Given the description of an element on the screen output the (x, y) to click on. 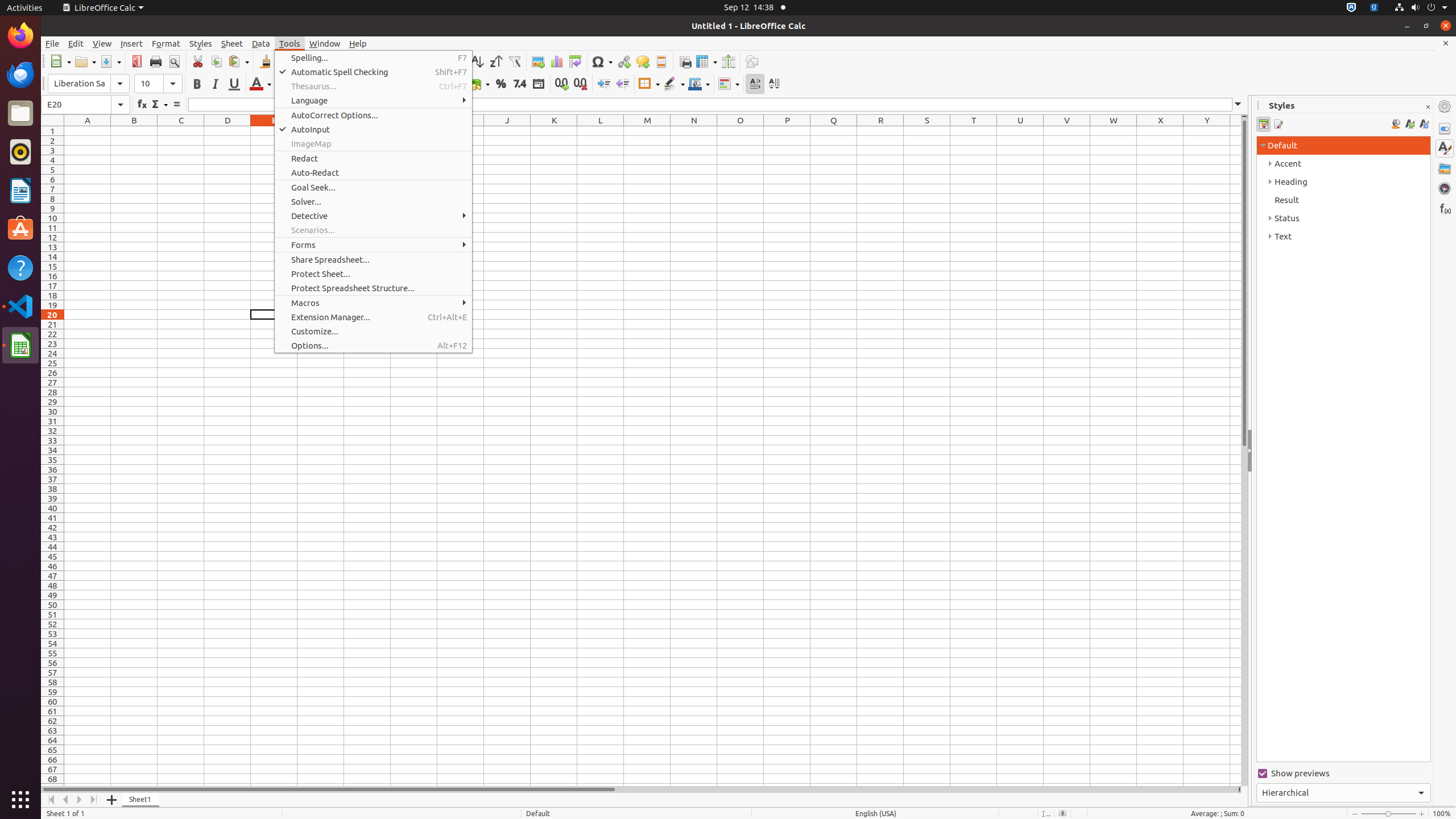
Fill Format Mode Element type: push-button (1395, 123)
Customize... Element type: menu-item (373, 331)
Extension Manager... Element type: menu-item (373, 316)
Copy Element type: push-button (216, 61)
Files Element type: push-button (20, 113)
